Given the description of an element on the screen output the (x, y) to click on. 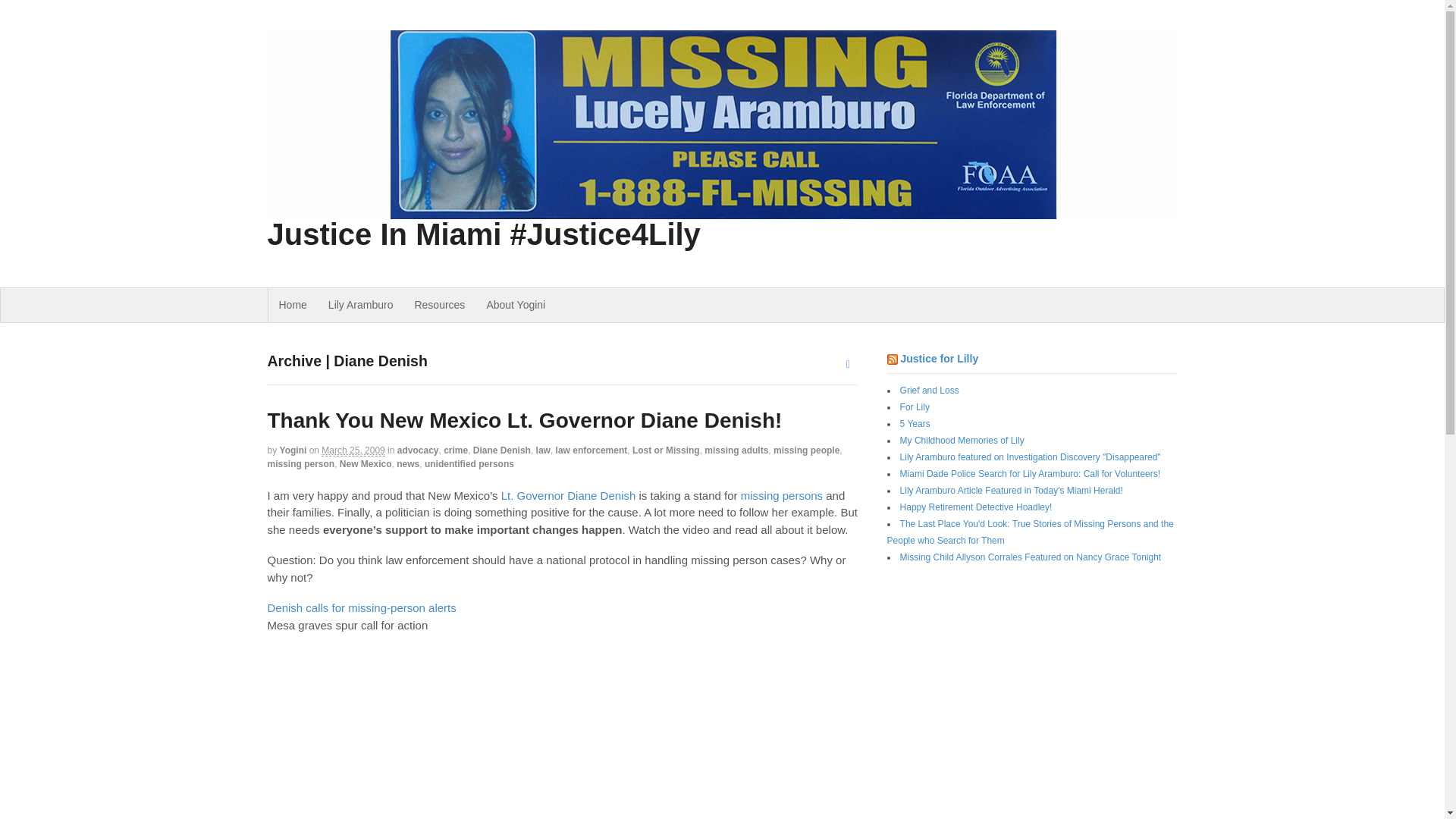
View all items in crime (455, 450)
View all items in Diane Denish (502, 450)
About Yogini (516, 305)
missing person (300, 463)
Lt. Governor Diane Denish (568, 495)
My Childhood Memories of Lily (962, 439)
Happy Retirement Detective Hoadley! (975, 507)
Lost or Missing (665, 450)
For Lily (914, 407)
